Given the description of an element on the screen output the (x, y) to click on. 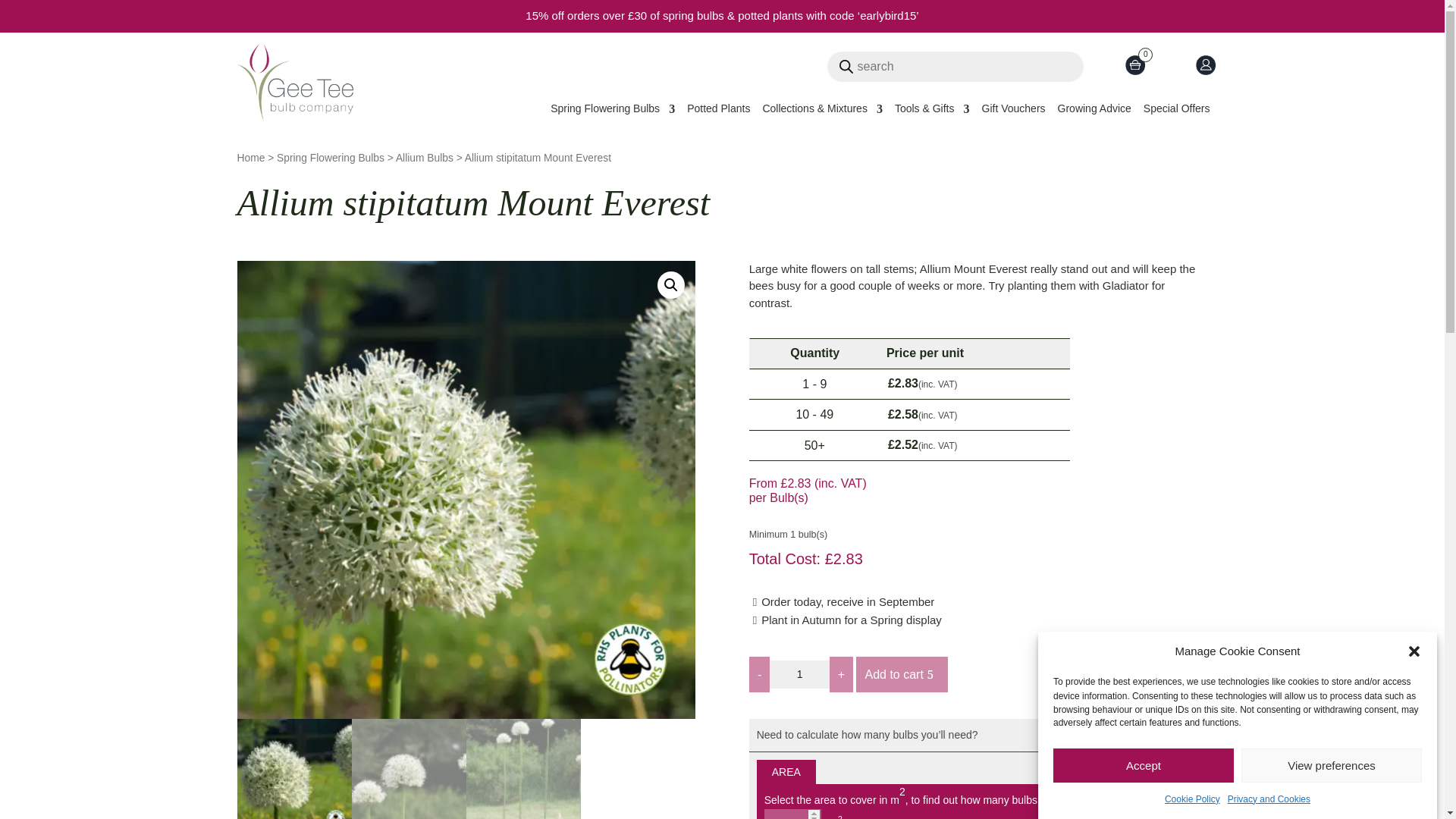
login-dkblue (1204, 64)
gee-tee-bulbs-logo (294, 83)
Spring Flowering Bulbs (612, 110)
1 (799, 674)
